Given the description of an element on the screen output the (x, y) to click on. 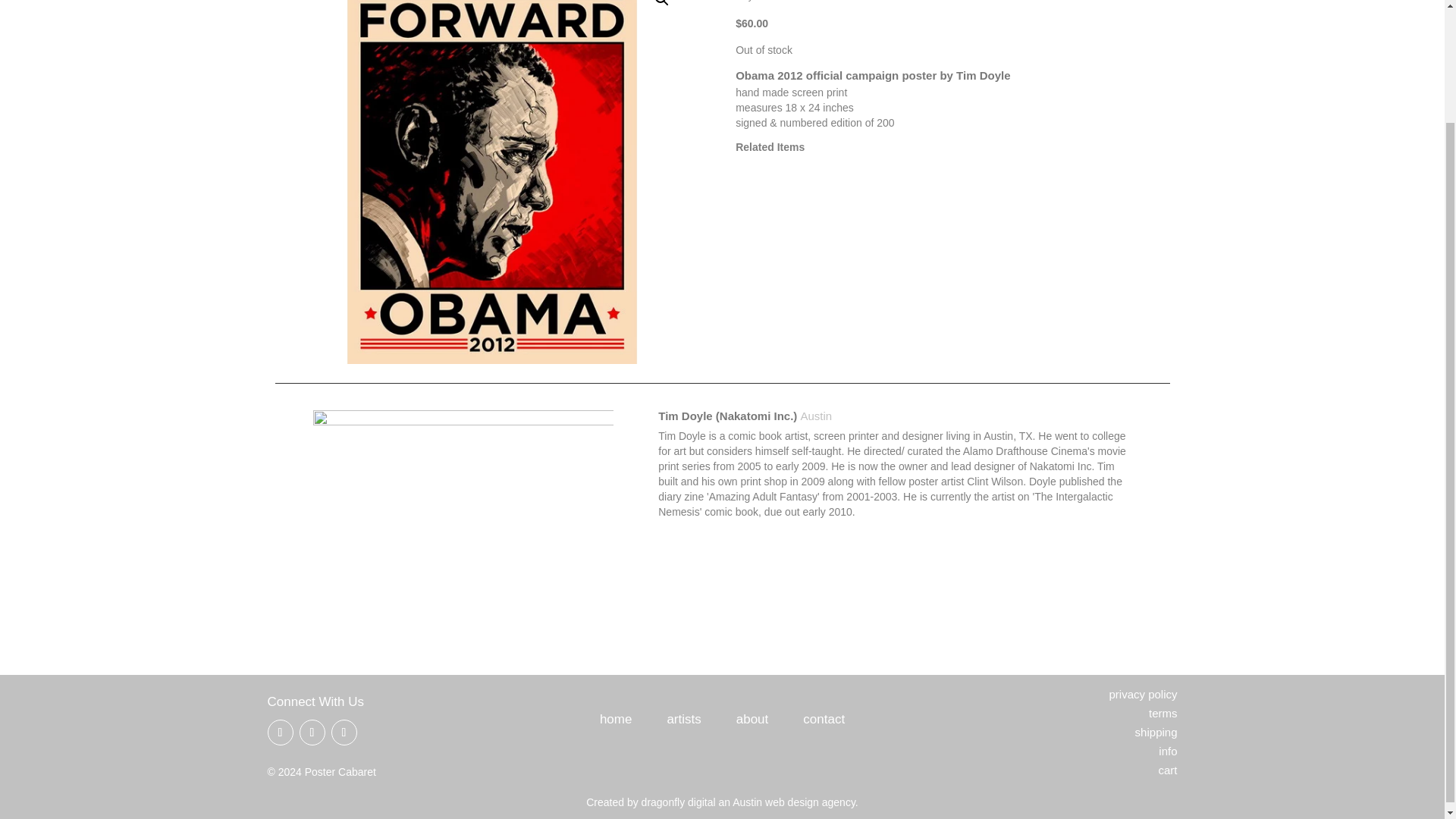
home (615, 722)
Follow on Pinterest (311, 732)
privacy policy (1142, 694)
Follow on Facebook (279, 732)
Follow on Instagram (343, 732)
contact (823, 722)
about (752, 722)
artists (683, 722)
Tim (462, 523)
